Given the description of an element on the screen output the (x, y) to click on. 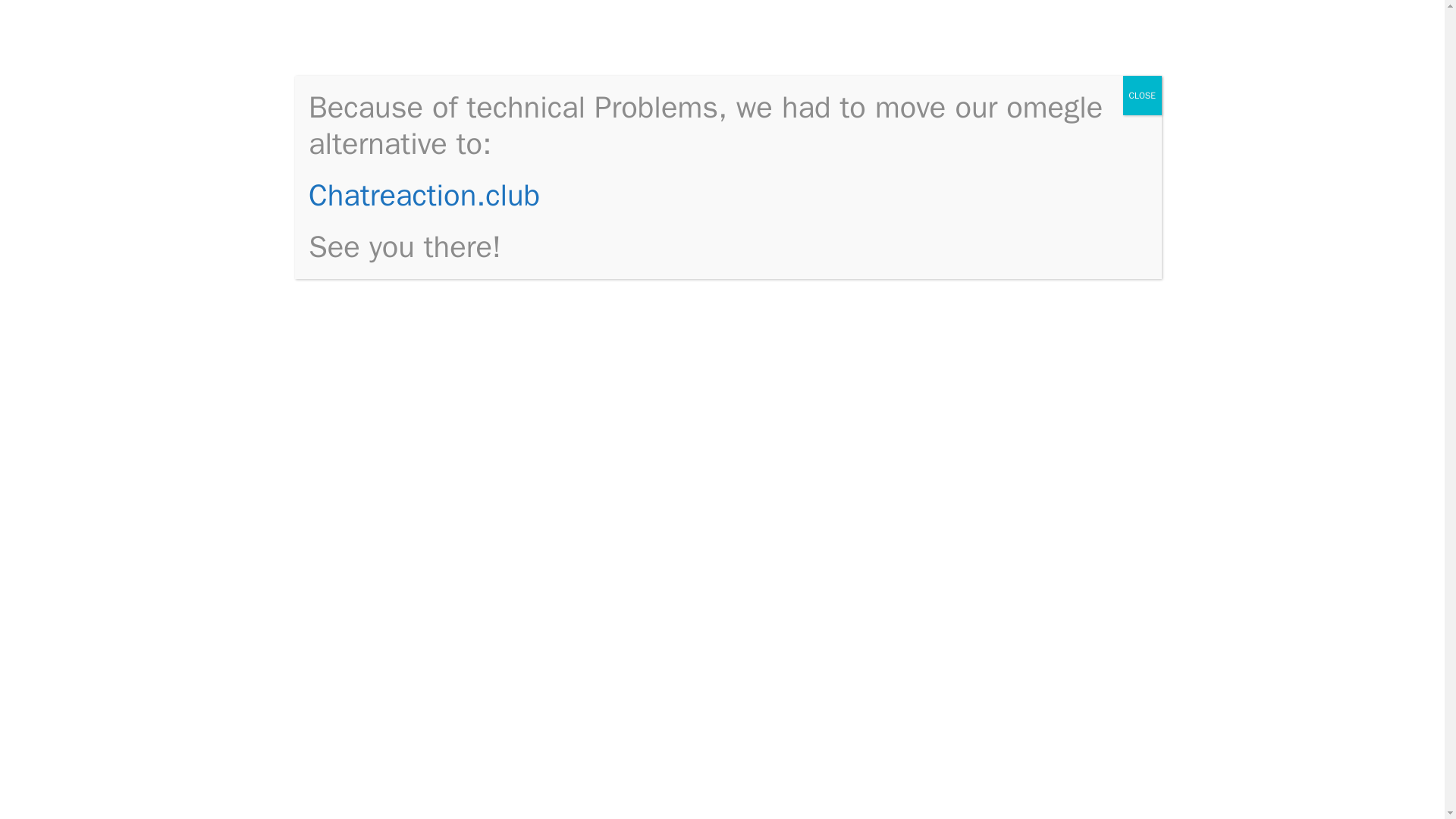
world-class (461, 277)
Chatreaction.club (424, 195)
Kik single girls (1001, 479)
Omegal plus (995, 218)
05.11.2010 (364, 213)
Wap chat rooms (1006, 265)
Irish (756, 796)
CLOSE (1141, 95)
Live sexy talk (998, 544)
